Given the description of an element on the screen output the (x, y) to click on. 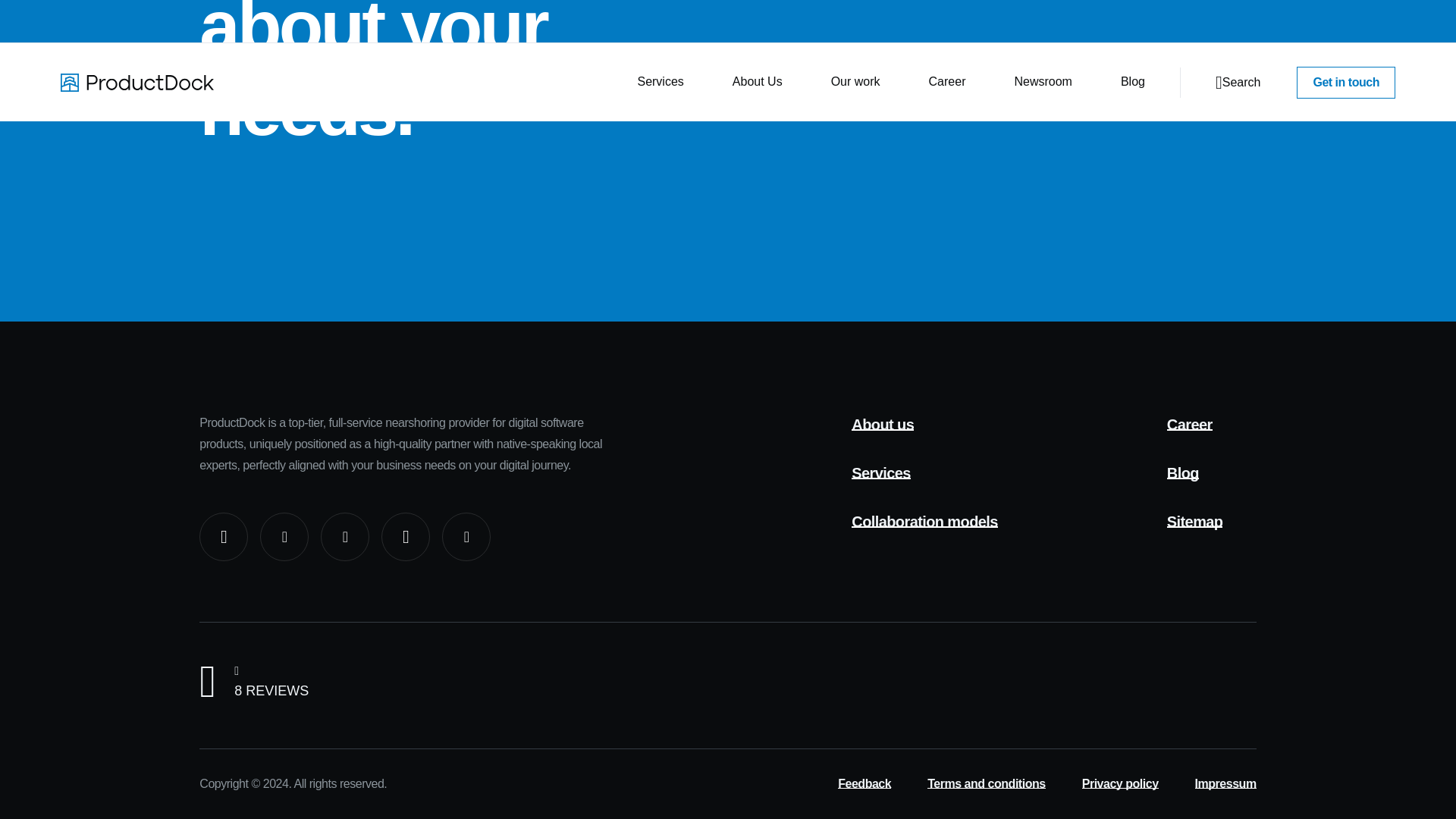
X (405, 536)
Facebook (466, 536)
Instagram (284, 536)
Linkedin (223, 536)
YouTube (344, 536)
